Given the description of an element on the screen output the (x, y) to click on. 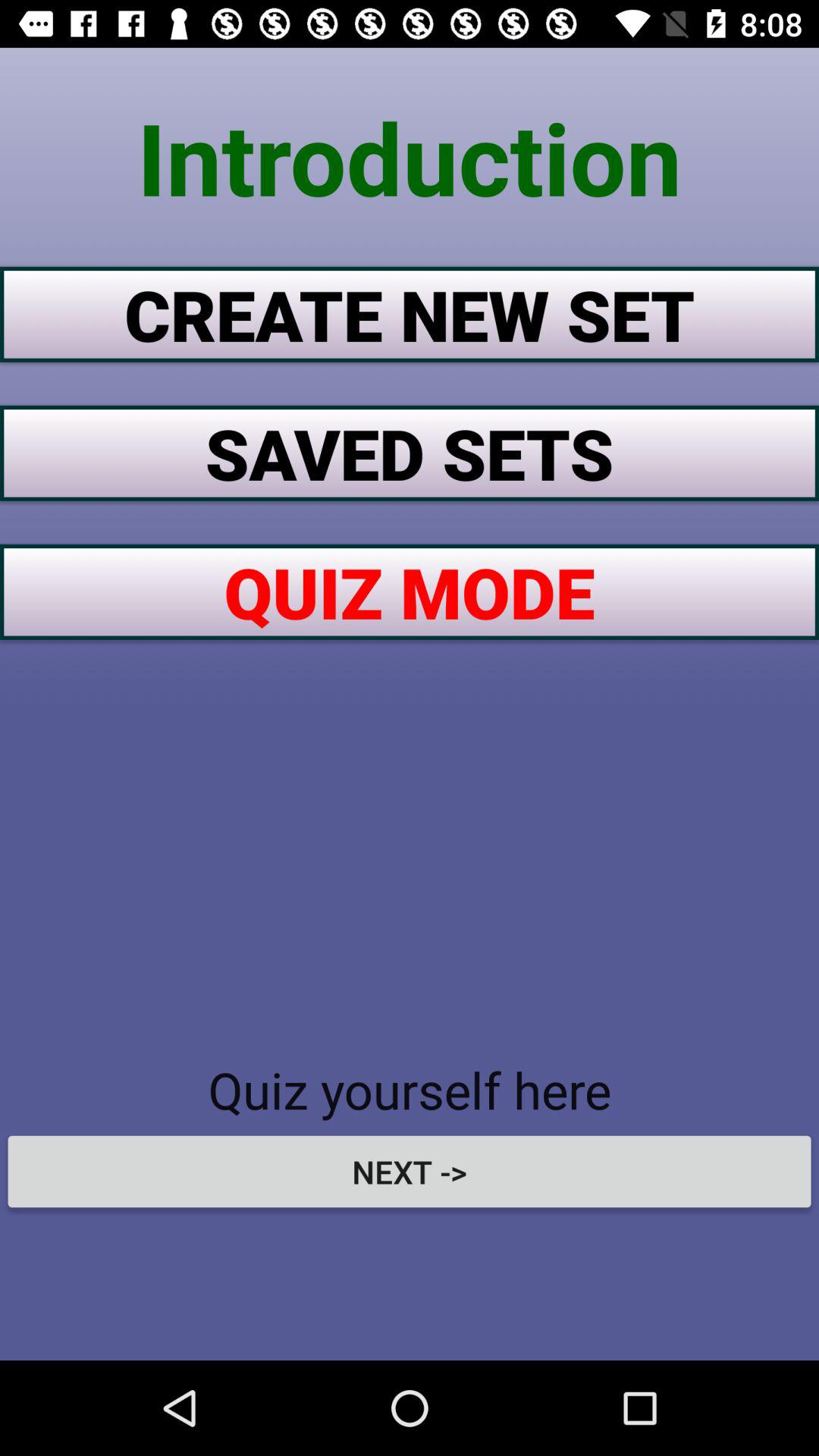
launch the icon below the create new set item (409, 453)
